Given the description of an element on the screen output the (x, y) to click on. 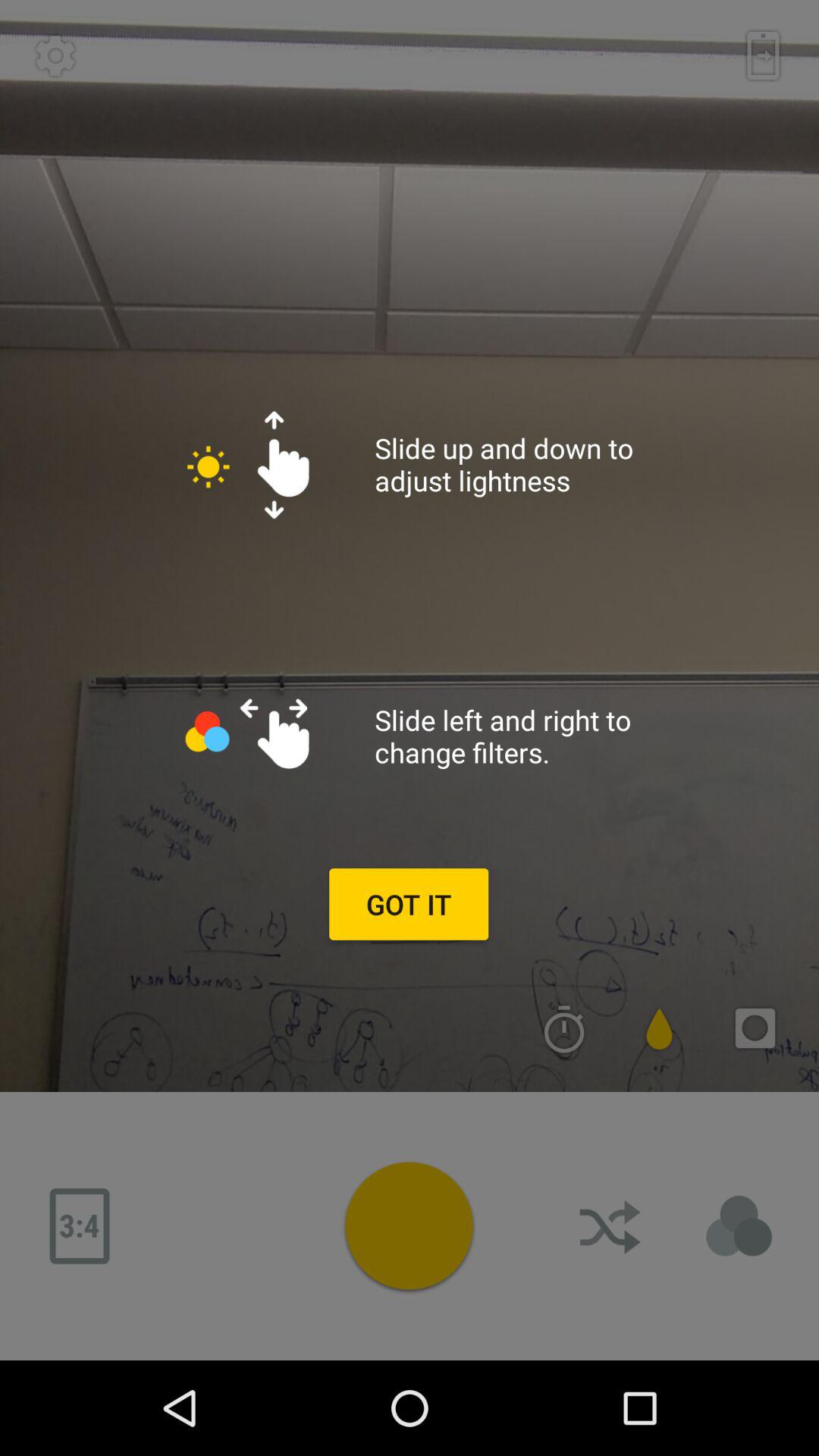
change screen ratio (79, 1226)
